Given the description of an element on the screen output the (x, y) to click on. 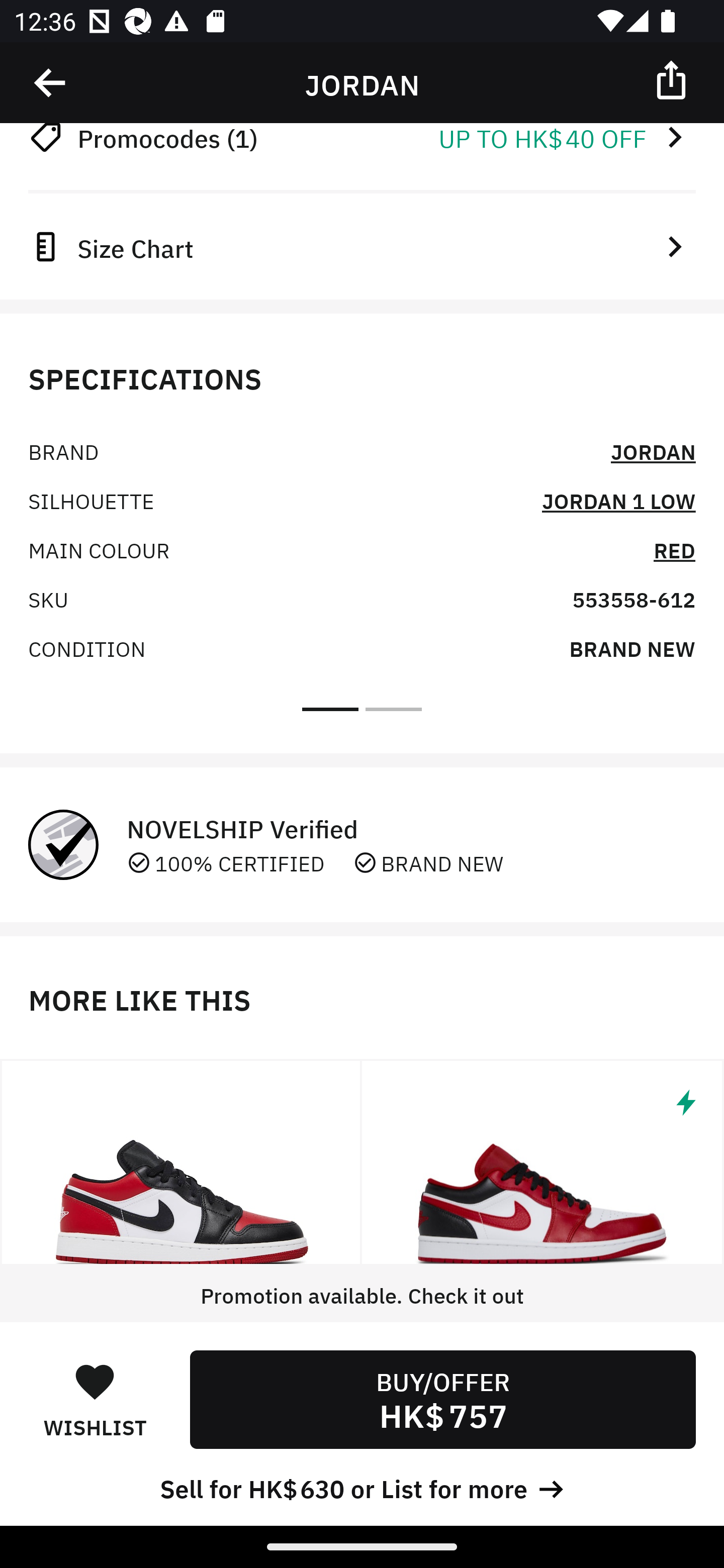
 (50, 83)
 (672, 79)
Promocodes (1) UP TO HK$ 40 OFF  (361, 140)
Size Chart  (361, 246)
JORDAN (653, 450)
JORDAN 1 LOW (618, 499)
RED (674, 549)
553558-612 (633, 598)
BRAND NEW (632, 647)
 (543, 1161)
BUY/OFFER HK$ 757 (442, 1399)
󰋑 (94, 1380)
Sell for HK$ 630 or List for more (361, 1486)
